Given the description of an element on the screen output the (x, y) to click on. 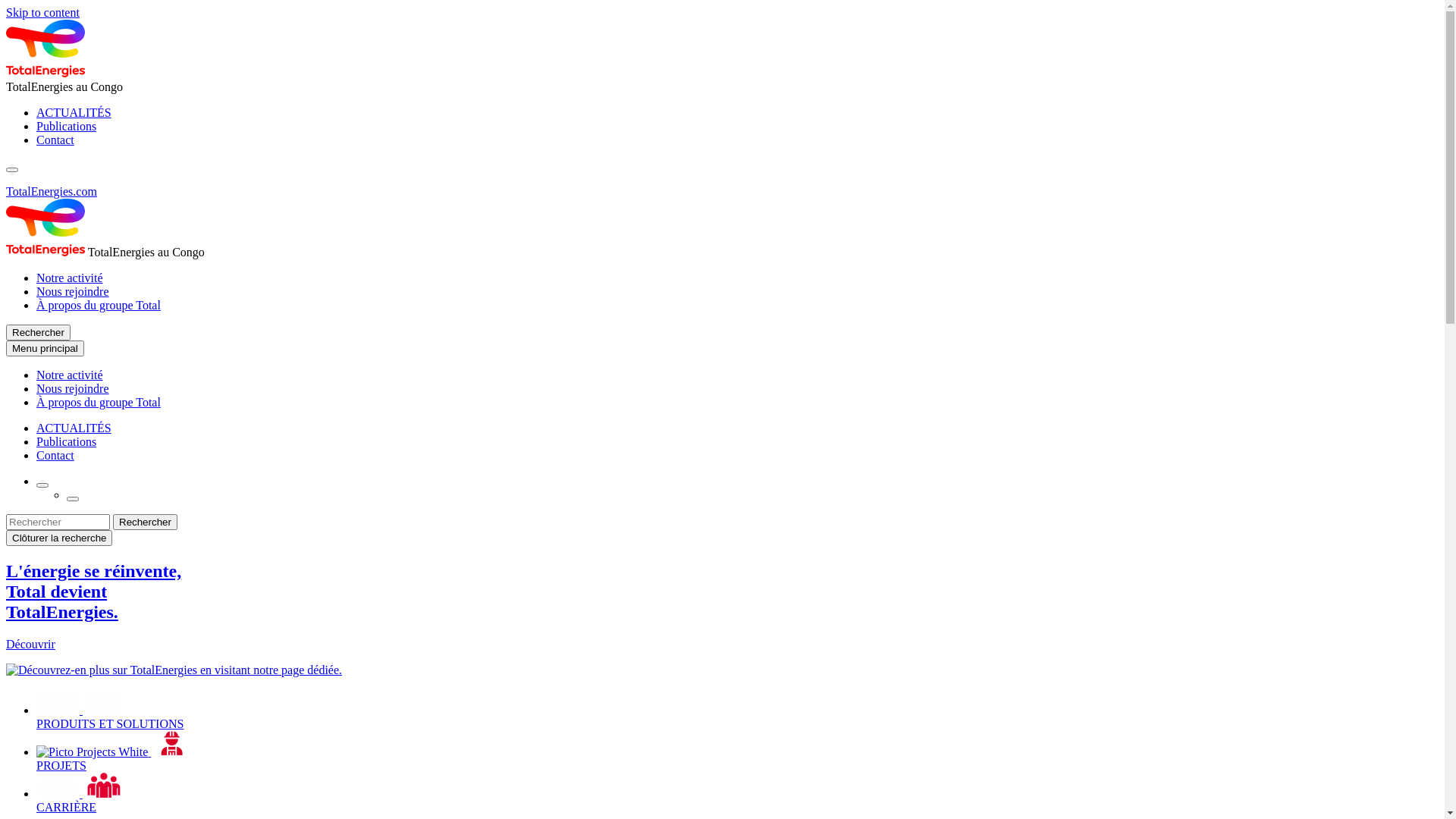
Contact Element type: text (55, 139)
PROJETS Element type: text (737, 751)
Rechercher Element type: text (144, 522)
Publications Element type: text (66, 125)
PRODUITS ET SOLUTIONS Element type: text (737, 710)
TotalEnergies.com Element type: text (51, 191)
Skip to content Element type: text (42, 12)
Nous rejoindre Element type: text (72, 291)
Rechercher Element type: text (38, 332)
Menu principal Element type: text (45, 348)
Contact Element type: text (55, 454)
Publications Element type: text (66, 441)
Nous rejoindre Element type: text (72, 388)
